Given the description of an element on the screen output the (x, y) to click on. 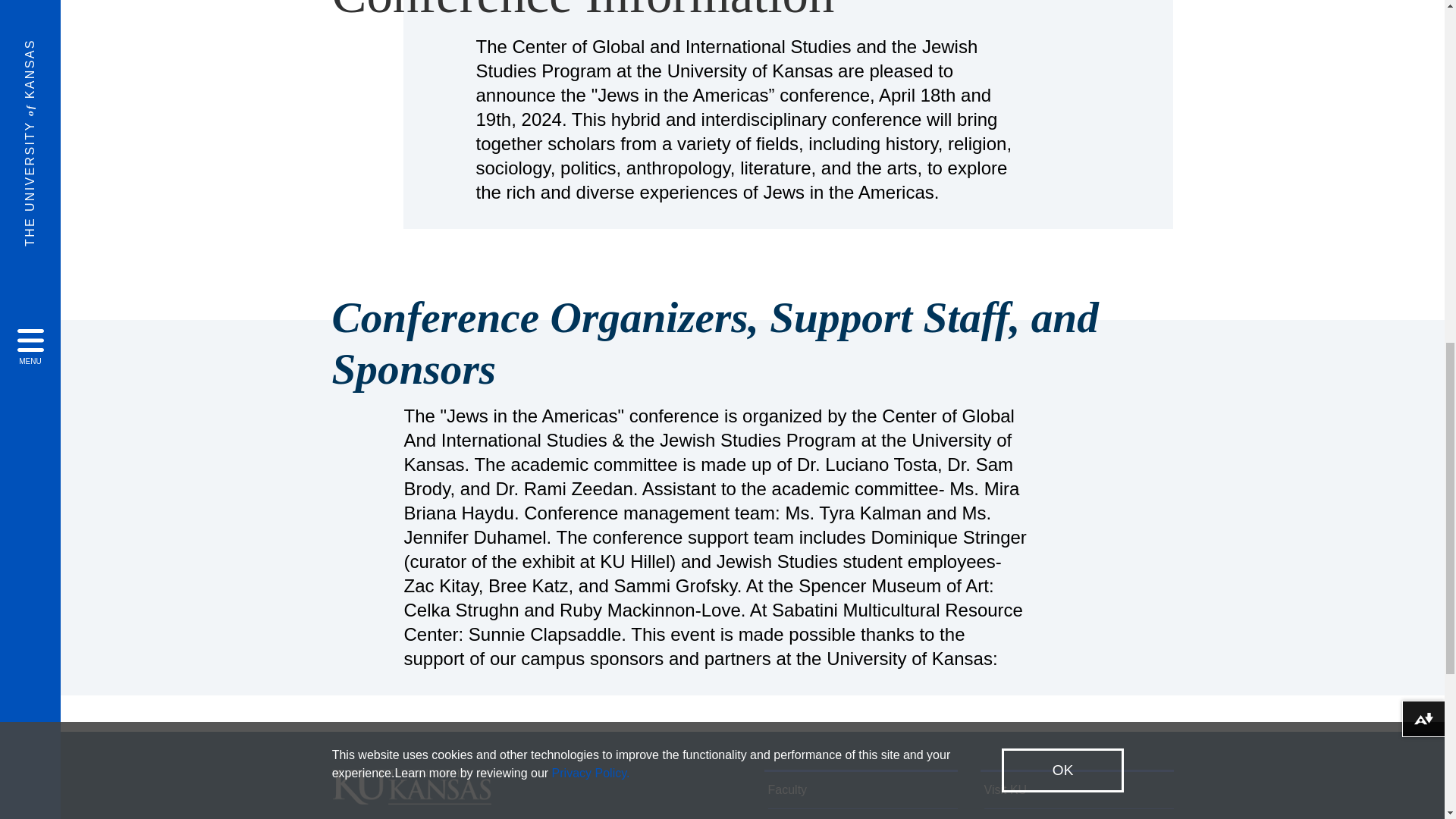
The University of Kansas (411, 797)
